Given the description of an element on the screen output the (x, y) to click on. 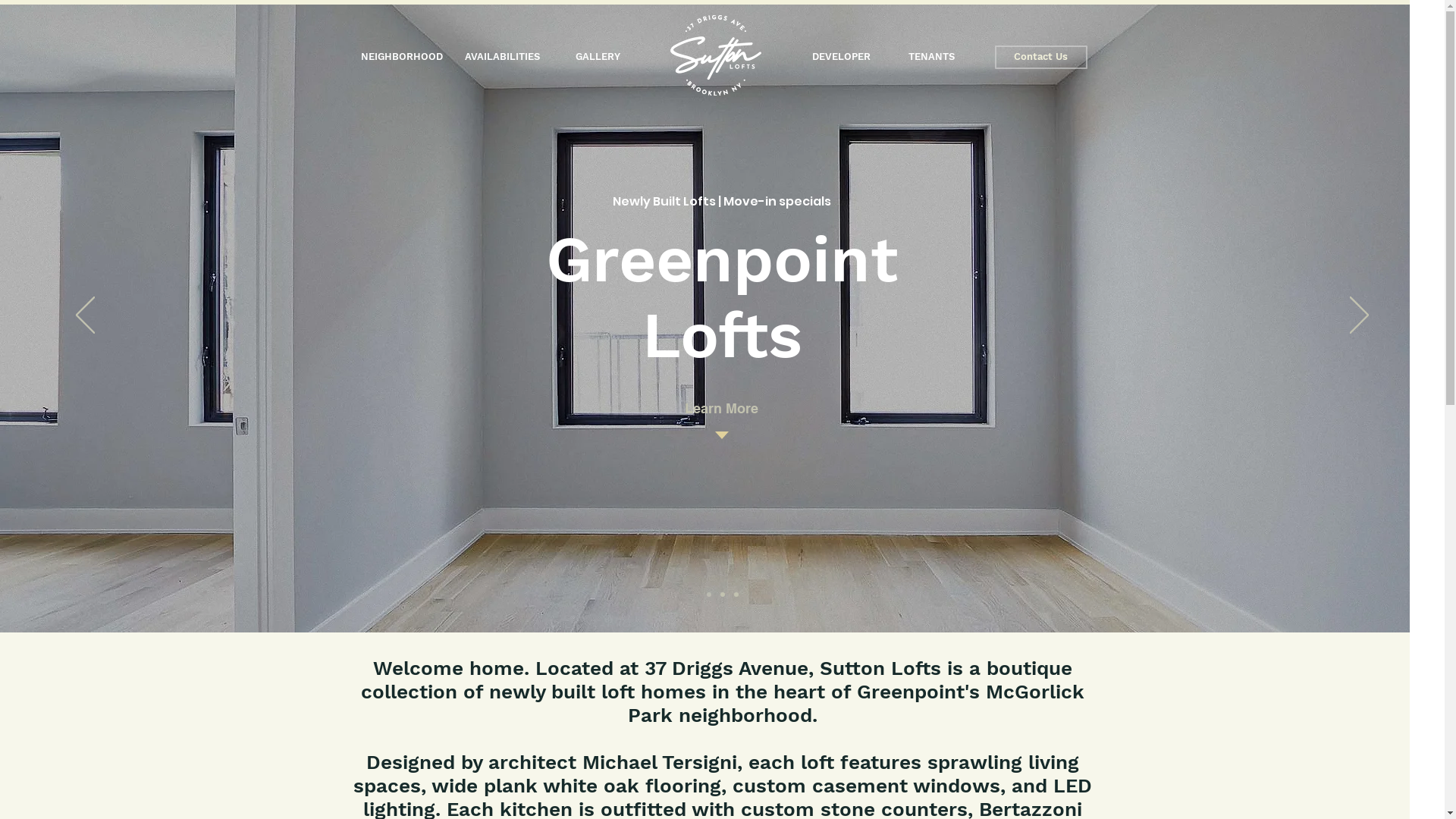
NEIGHBORHOOD Element type: text (401, 57)
37 Driggs Avenue Element type: text (726, 667)
AVAILABILITIES Element type: text (502, 57)
Greenpoint's McGorlick Park neighborhood Element type: text (855, 703)
DEVELOPER Element type: text (841, 57)
Greenpoint Lofts Element type: text (721, 297)
TENANTS Element type: text (931, 57)
GALLERY Element type: text (597, 57)
Learn More Element type: text (721, 408)
Contact Us Element type: text (1040, 57)
